Given the description of an element on the screen output the (x, y) to click on. 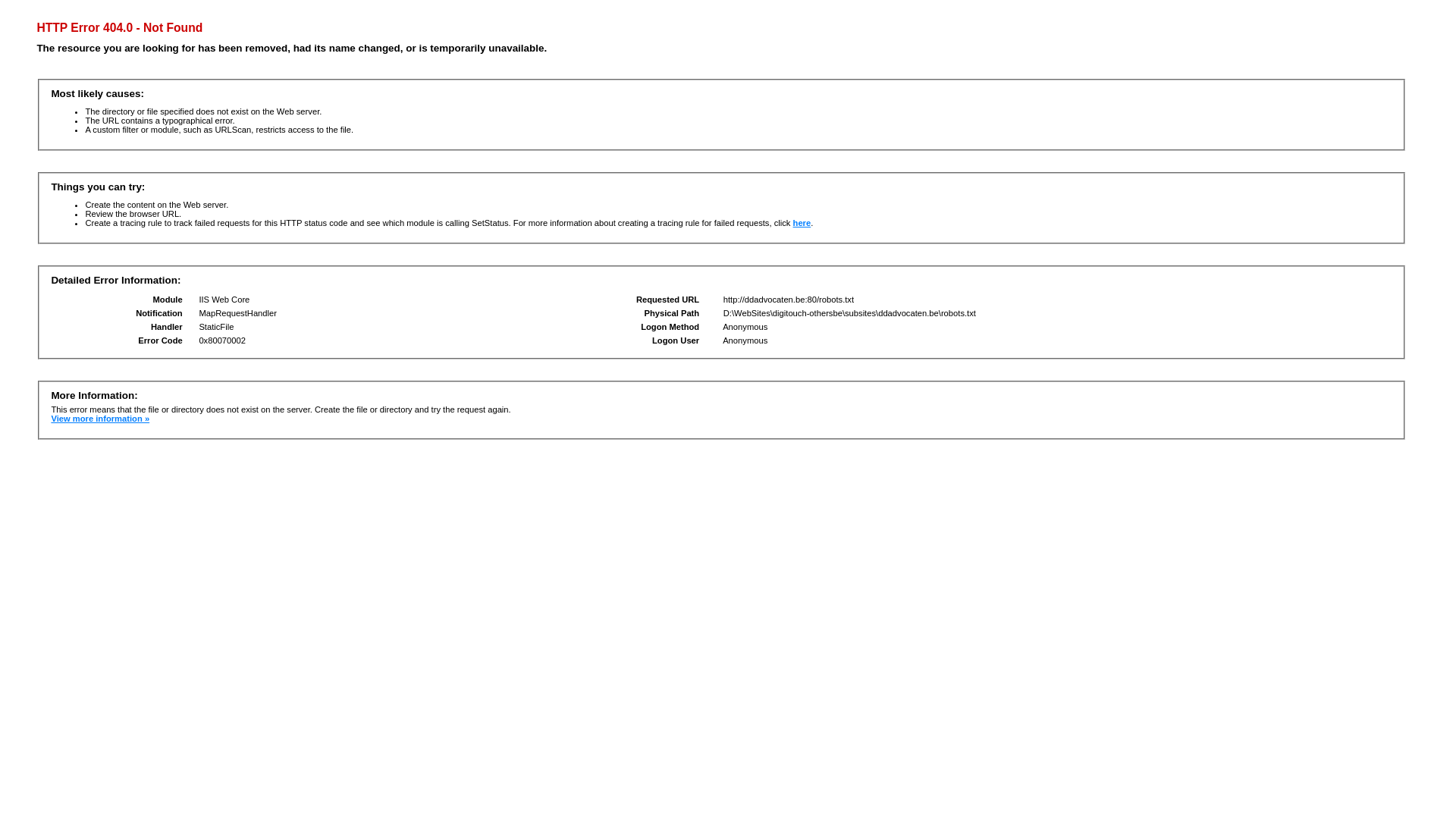
here Element type: text (802, 222)
